Given the description of an element on the screen output the (x, y) to click on. 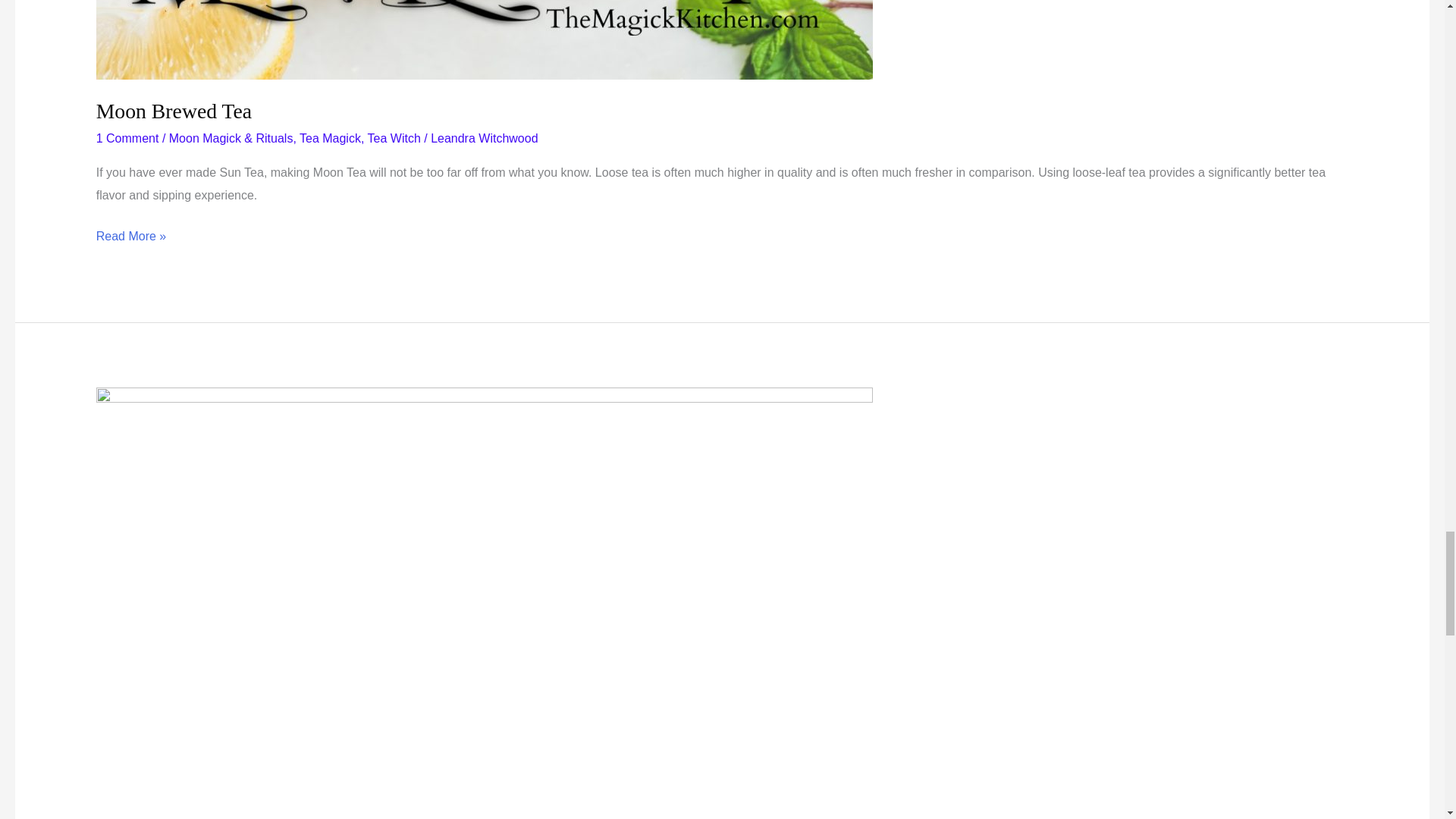
View all posts by Leandra Witchwood (483, 137)
